Given the description of an element on the screen output the (x, y) to click on. 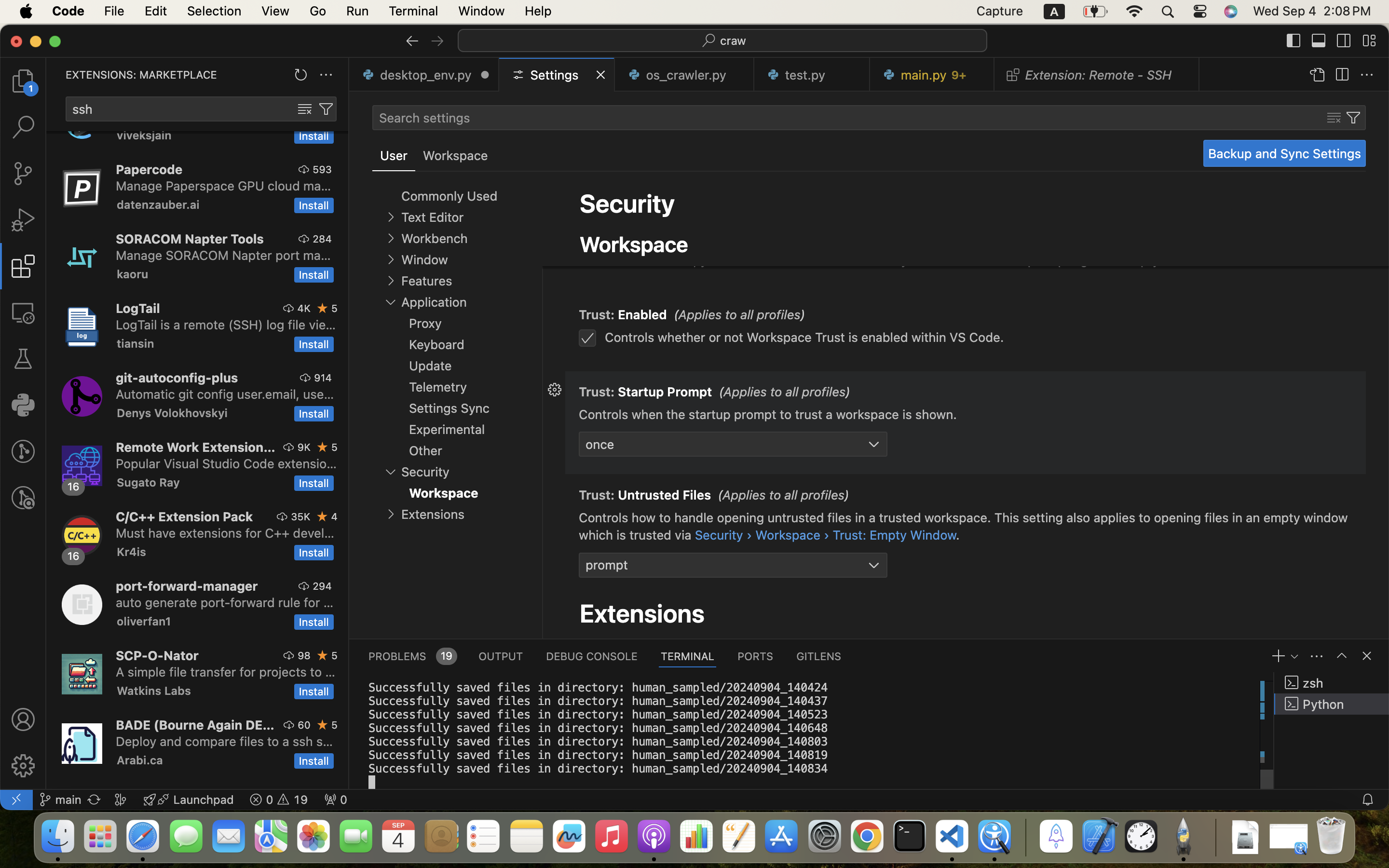
0 os_crawler.py   Element type: AXRadioButton (684, 74)
Must have extensions for C++ development in Visual Studio Code. Element type: AXStaticText (224, 532)
 Element type: AXStaticText (322, 307)
 Element type: AXStaticText (325, 108)
Remote Work Extension Pack Element type: AXStaticText (195, 446)
